Given the description of an element on the screen output the (x, y) to click on. 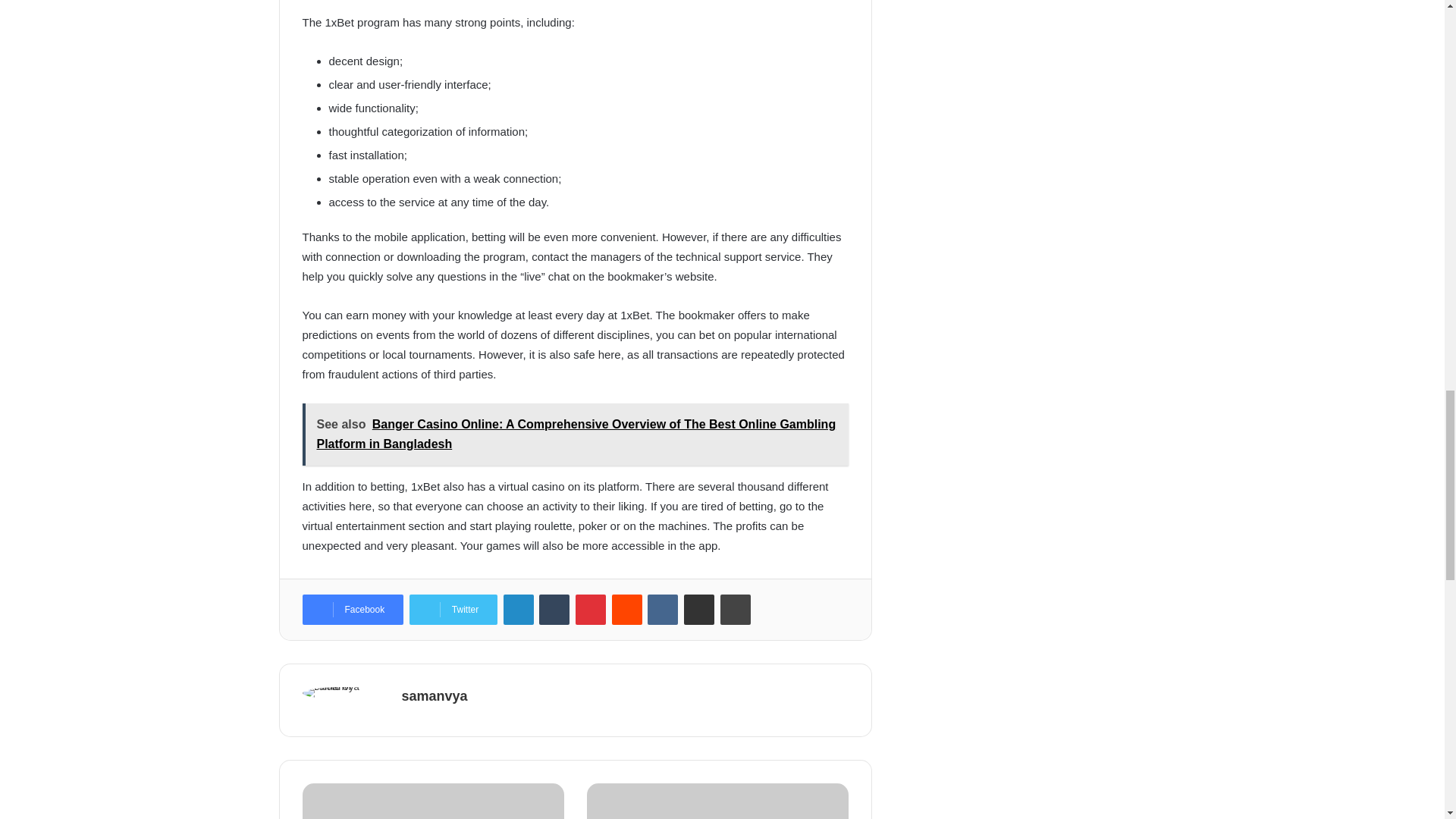
LinkedIn (518, 609)
Twitter (453, 609)
LinkedIn (518, 609)
Print (735, 609)
Facebook (352, 609)
Tumblr (553, 609)
Reddit (626, 609)
Twitter (453, 609)
Facebook (352, 609)
